Given the description of an element on the screen output the (x, y) to click on. 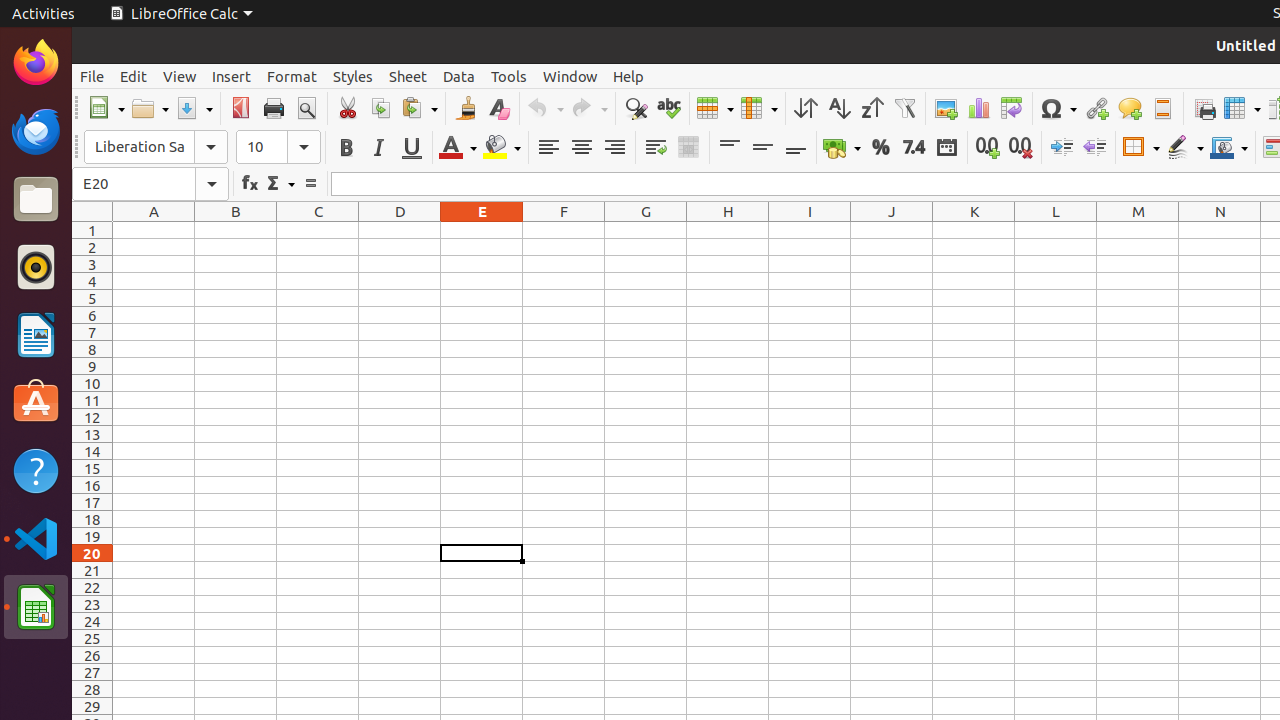
Merge and Center Cells Element type: push-button (688, 147)
Undo Element type: push-button (545, 108)
Find & Replace Element type: toggle-button (635, 108)
Clear Element type: push-button (498, 108)
Sort Ascending Element type: push-button (838, 108)
